Given the description of an element on the screen output the (x, y) to click on. 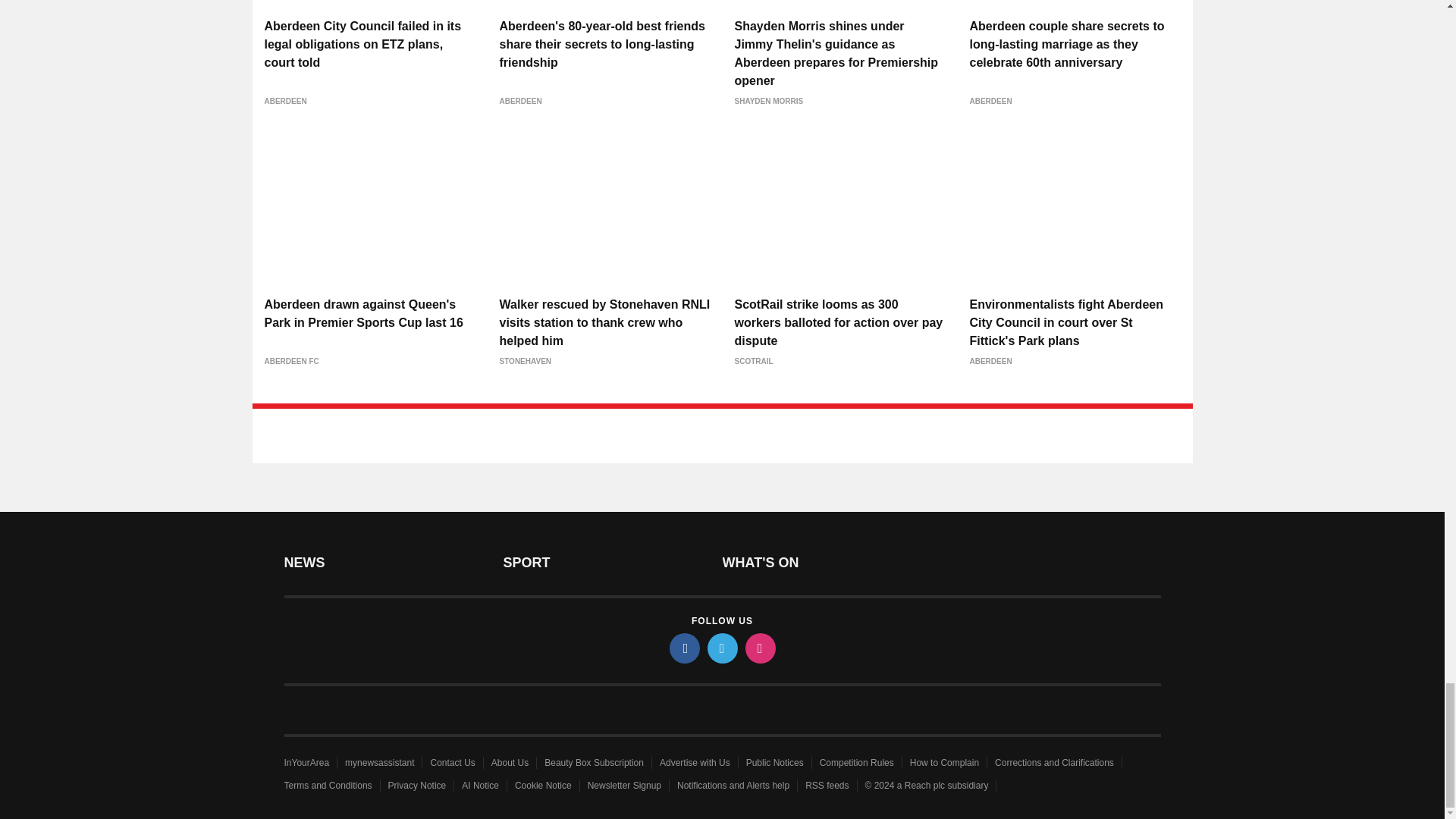
facebook (683, 648)
twitter (721, 648)
instagram (759, 648)
